Given the description of an element on the screen output the (x, y) to click on. 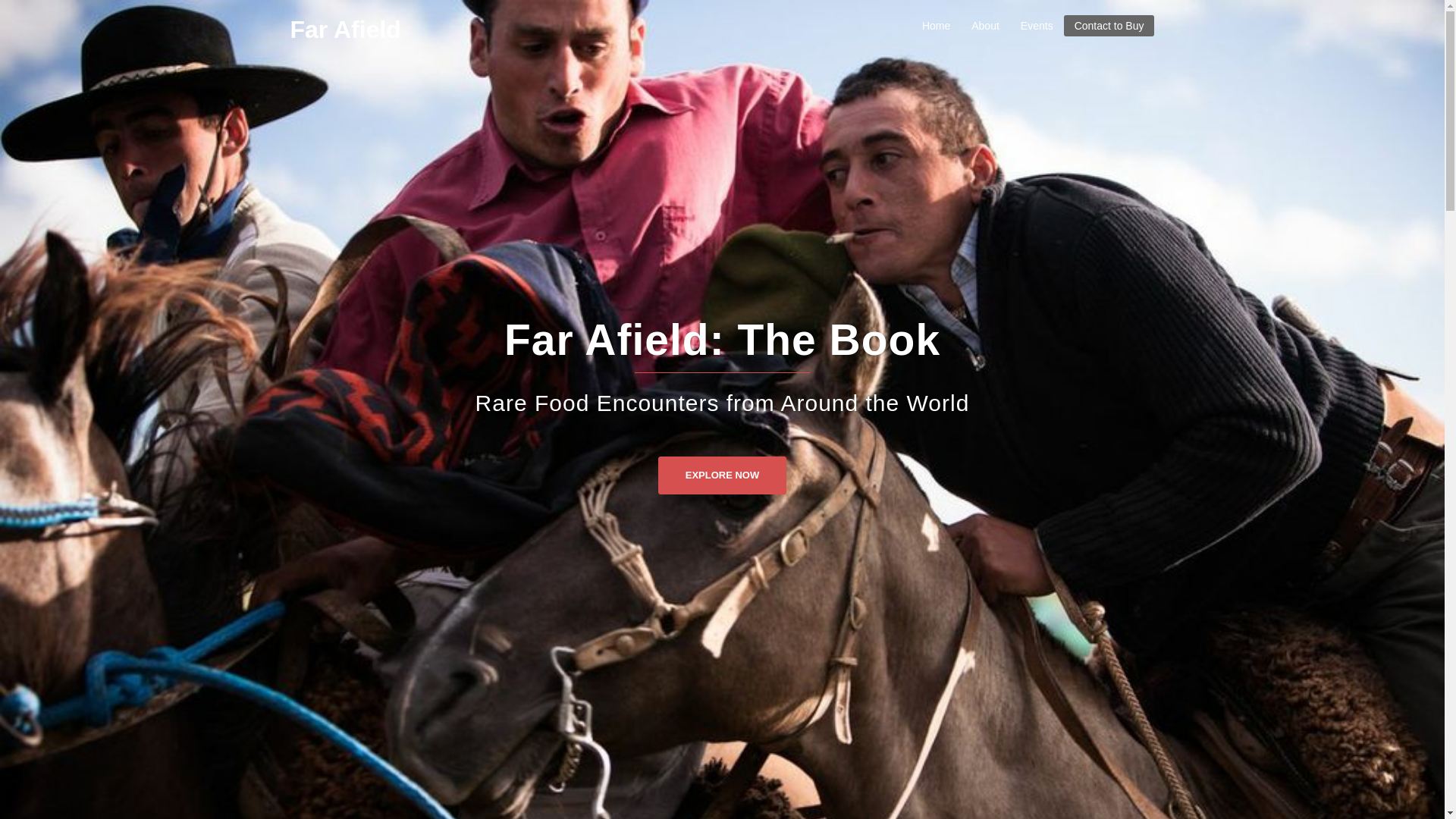
Contact to Buy (1109, 25)
About (984, 25)
Far Afield (344, 29)
Home (935, 25)
EXPLORE NOW (722, 469)
Events (1036, 25)
